Given the description of an element on the screen output the (x, y) to click on. 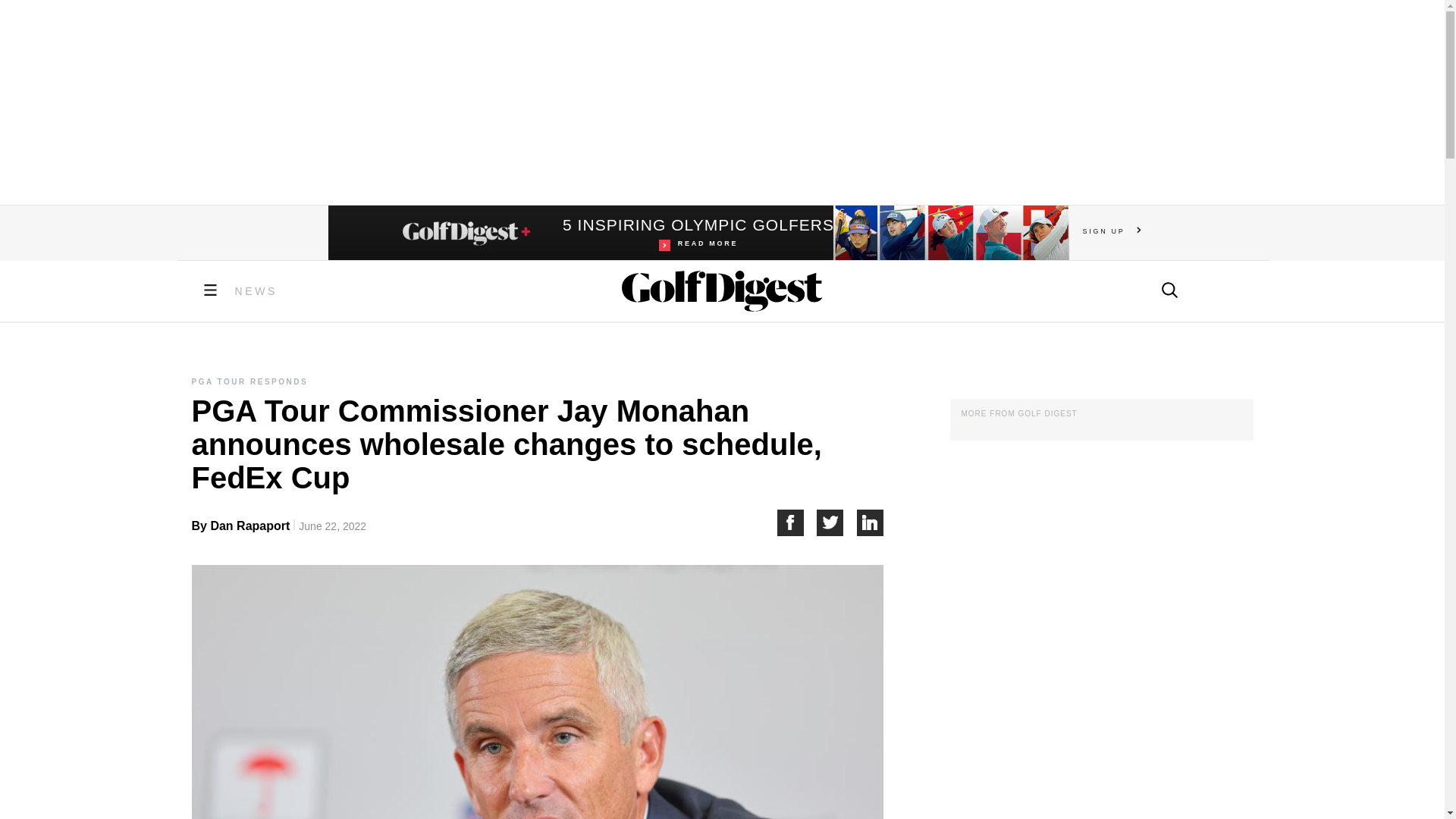
NEWS (256, 291)
Share on Facebook (697, 232)
SIGN UP (796, 522)
Share on LinkedIn (1112, 230)
Share on Twitter (870, 522)
